Given the description of an element on the screen output the (x, y) to click on. 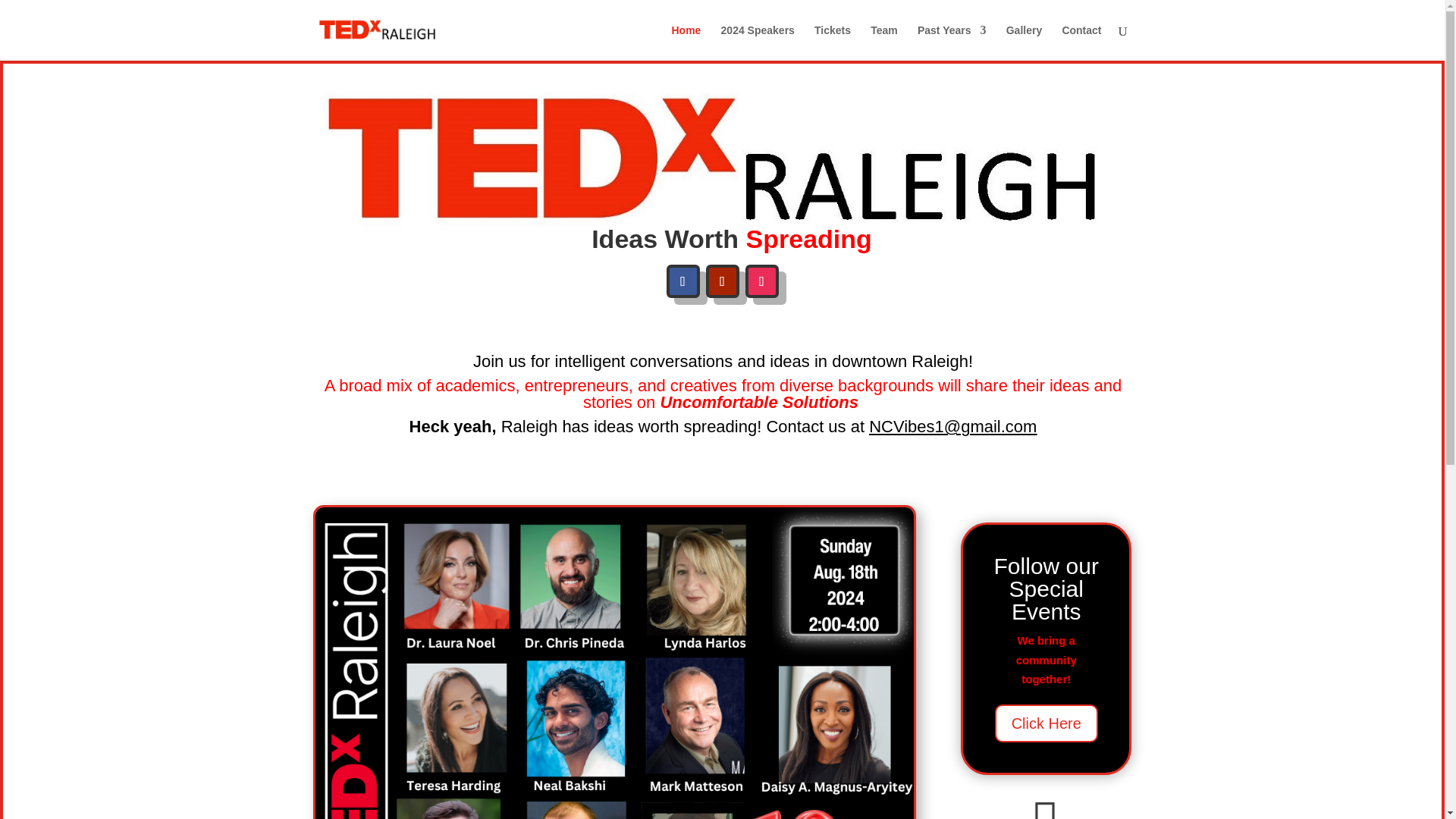
2024 Speakers (757, 42)
Follow on Instagram (760, 281)
logo narrow (722, 158)
Tickets (831, 42)
Contact (1080, 42)
Gallery (1024, 42)
Click Here (1045, 723)
Follow on Facebook (681, 281)
Follow on Youtube (721, 281)
Past Years (952, 42)
